Given the description of an element on the screen output the (x, y) to click on. 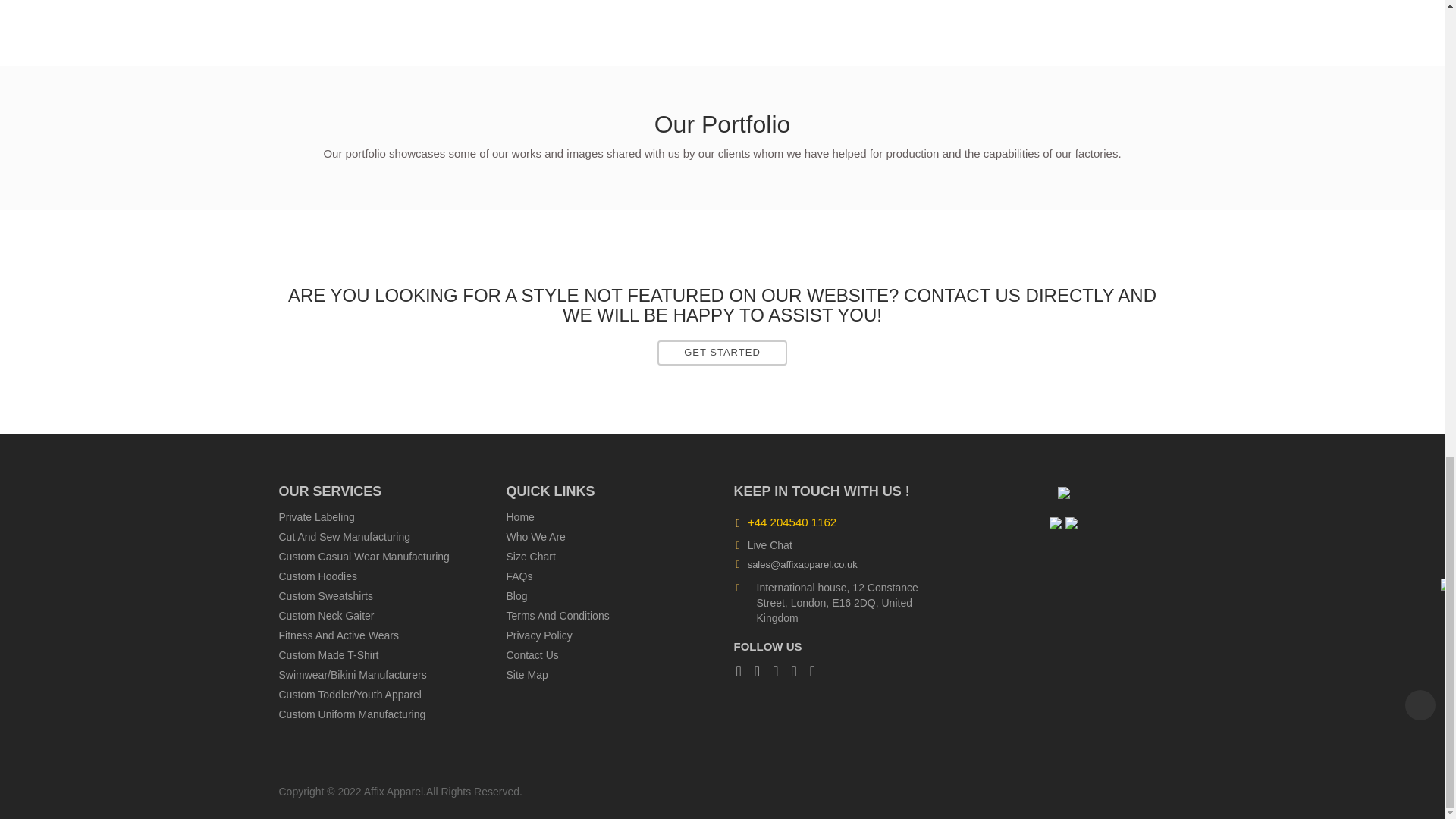
Affix Apparel Pinterest (797, 670)
Affix Apparel Instagram (761, 670)
Affix Apparel Linkedin (779, 670)
Affix Apparel Twitter (816, 670)
Affix Apparel Facebook (742, 670)
